Given the description of an element on the screen output the (x, y) to click on. 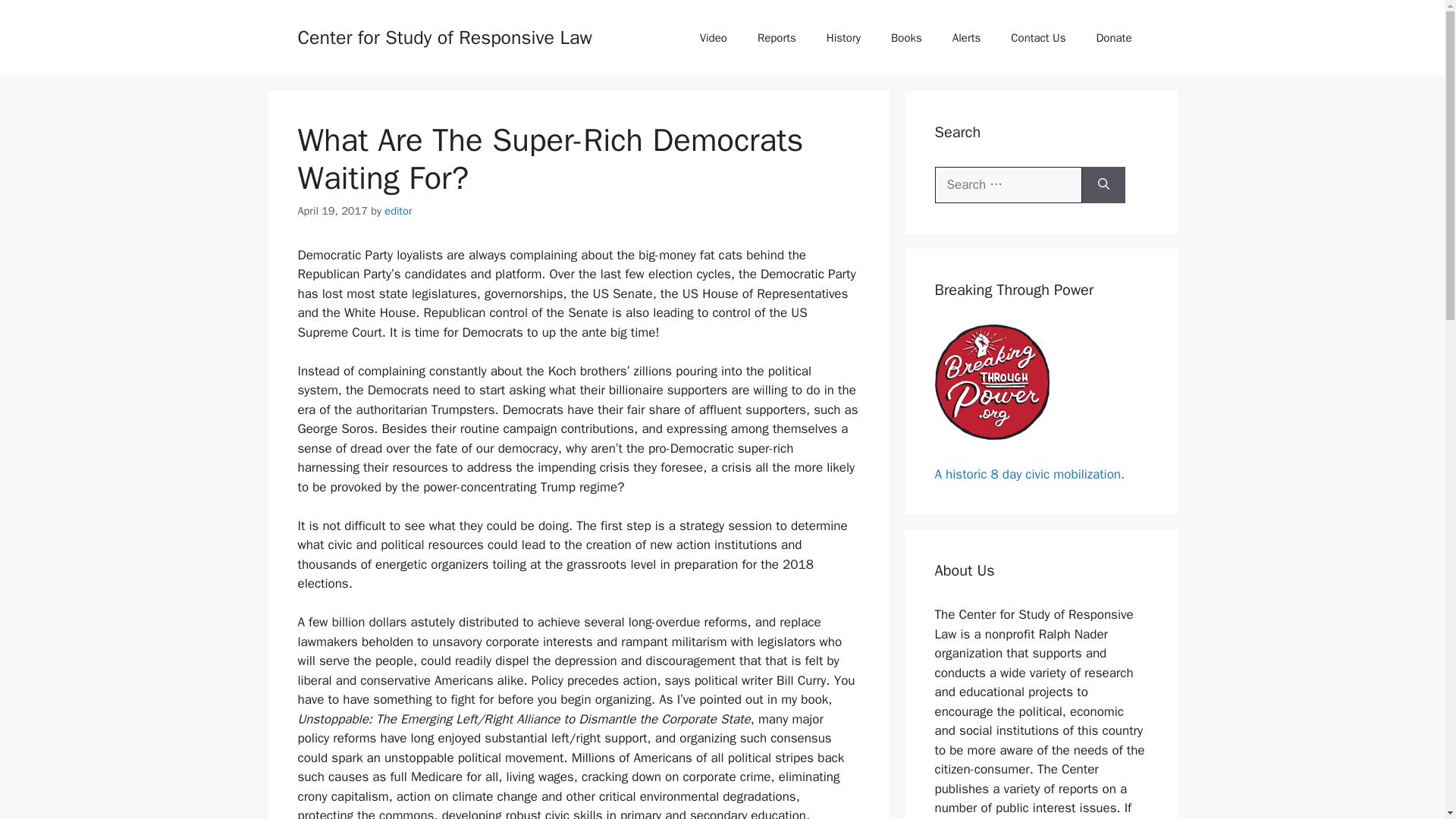
A historic 8 day civic mobilization. (1029, 473)
editor (398, 210)
Center for Study of Responsive Law (444, 37)
Books (906, 37)
History (843, 37)
Video (713, 37)
Donate (1113, 37)
Alerts (966, 37)
Contact Us (1037, 37)
Search for: (1007, 185)
Reports (776, 37)
View all posts by editor (398, 210)
